Given the description of an element on the screen output the (x, y) to click on. 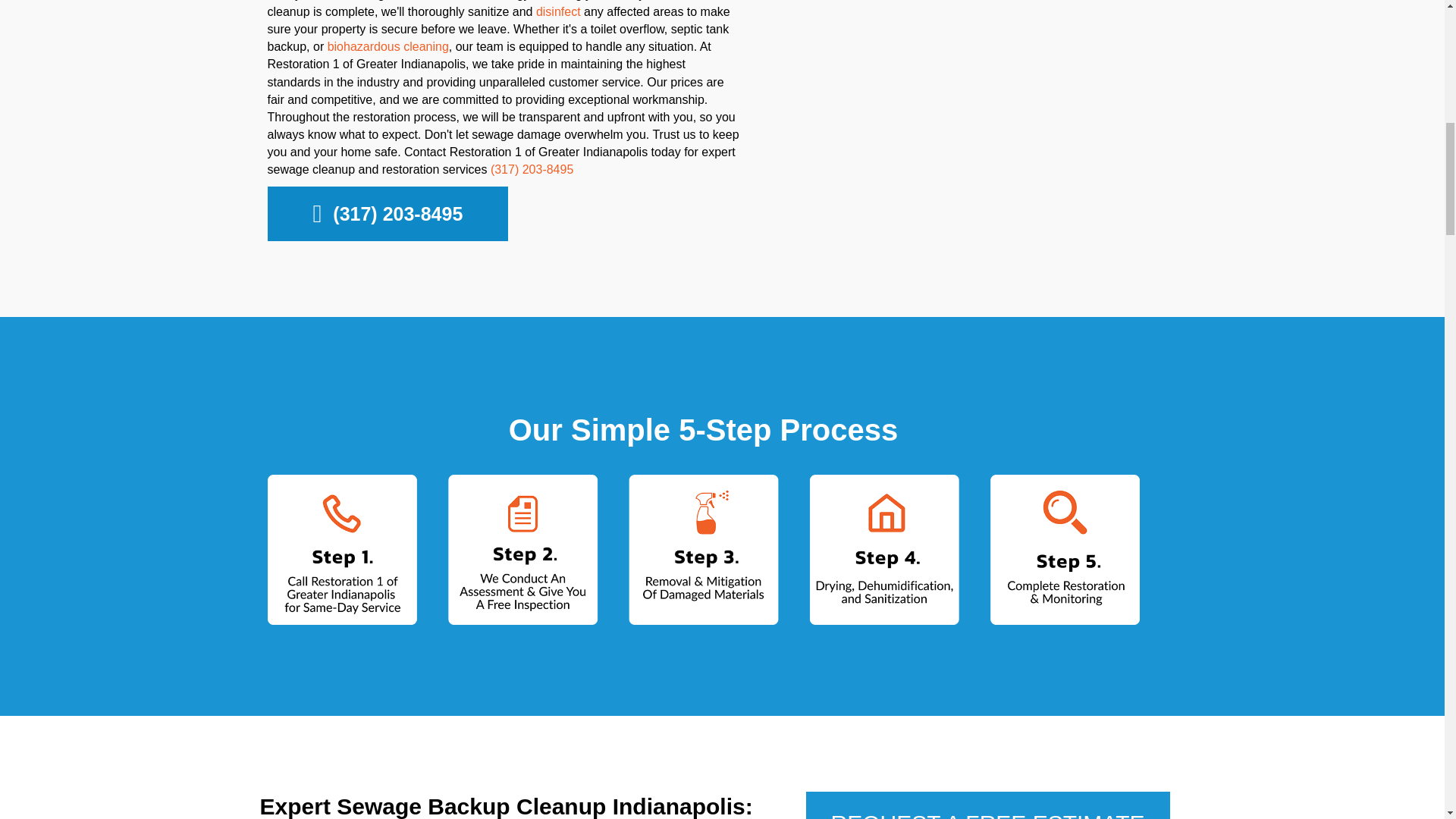
YouTube video player (969, 103)
5 steps (702, 549)
